Given the description of an element on the screen output the (x, y) to click on. 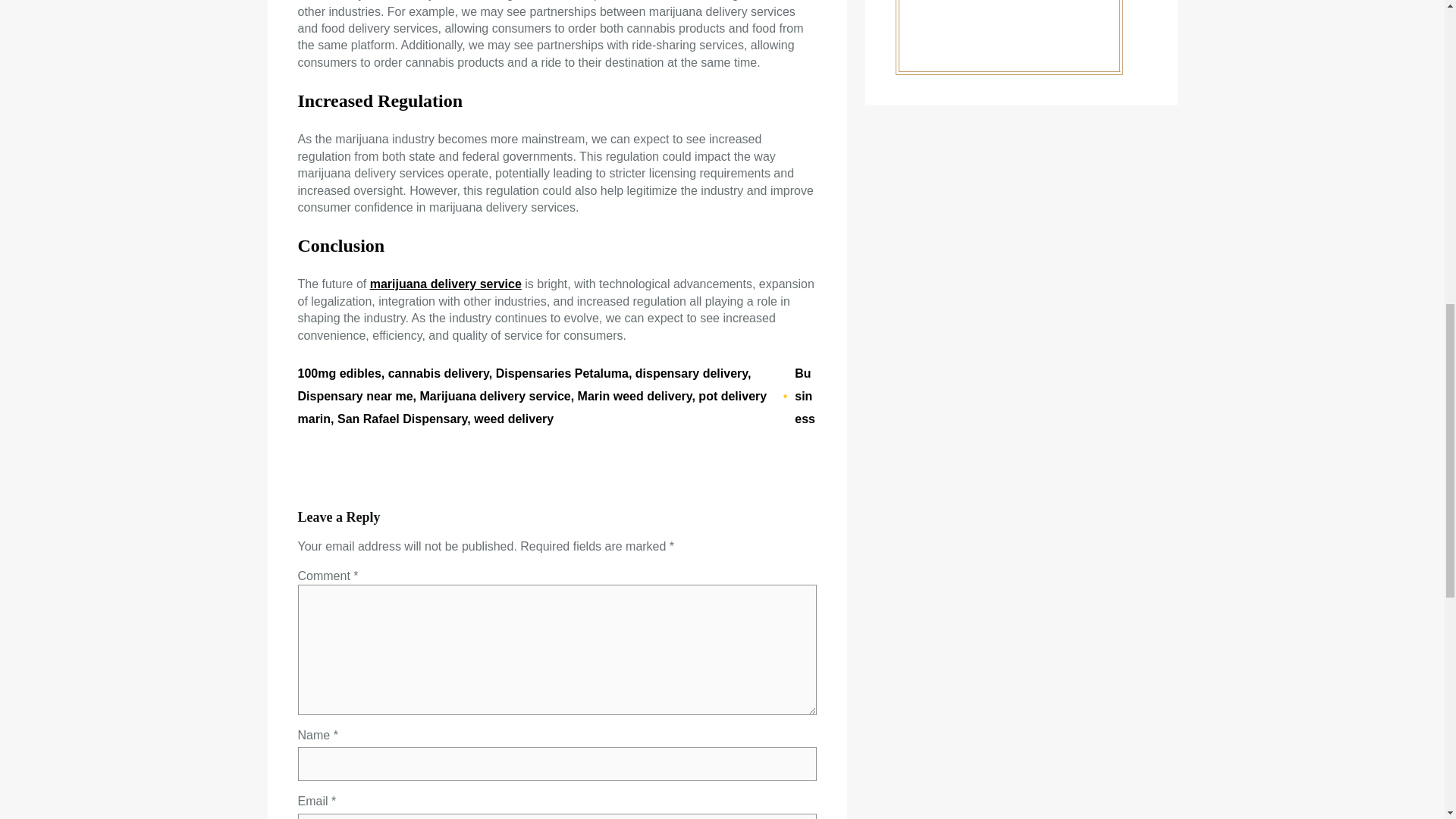
Dispensary near me (354, 395)
Marin weed delivery (635, 395)
cannabis delivery (438, 373)
Marijuana delivery service (494, 395)
100mg edibles (338, 373)
marijuana delivery service (445, 283)
weed delivery (513, 418)
pot delivery marin (532, 407)
dispensary delivery (691, 373)
Dispensaries Petaluma (562, 373)
